Given the description of an element on the screen output the (x, y) to click on. 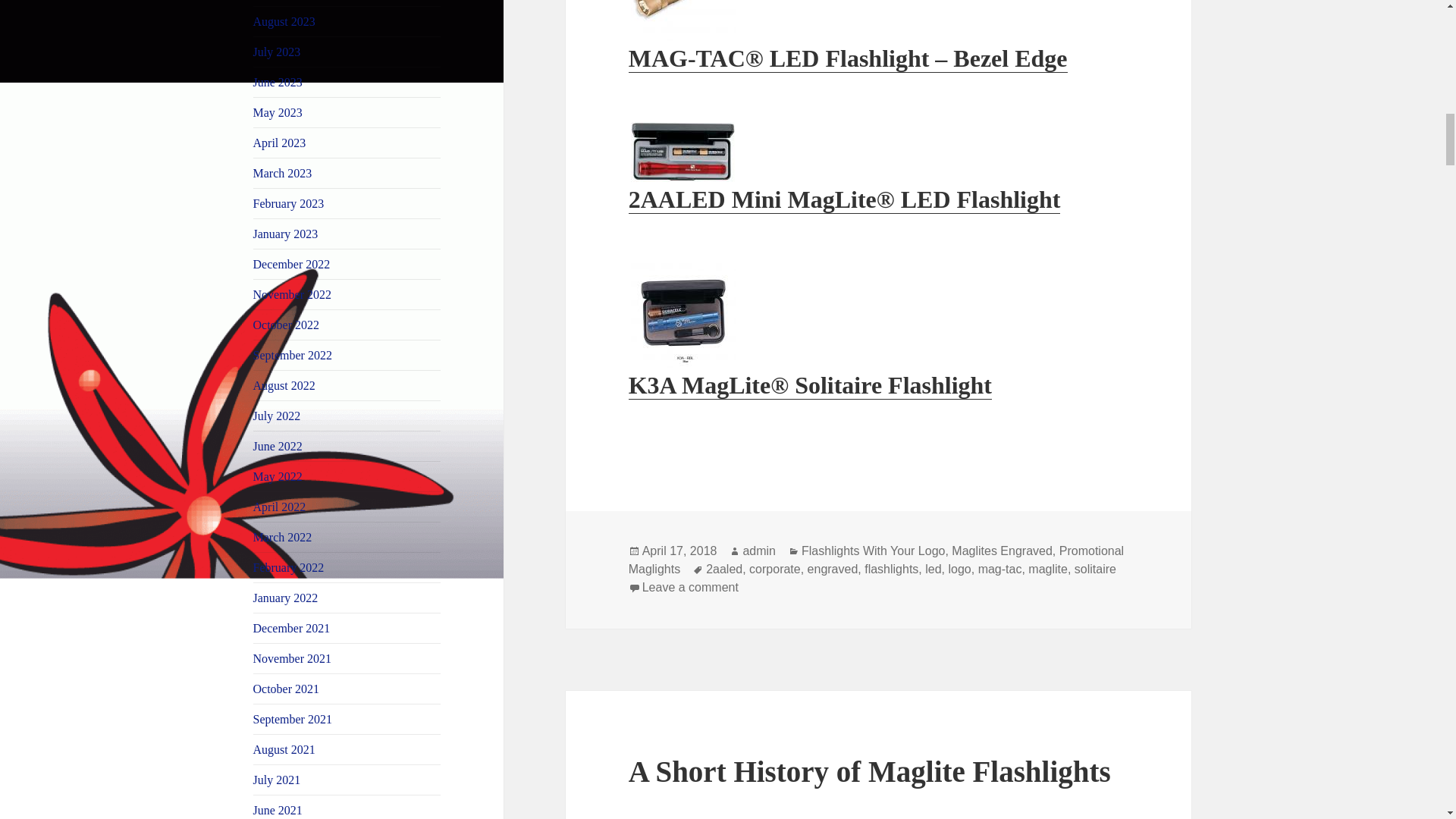
December 2022 (291, 264)
March 2023 (283, 173)
June 2023 (277, 82)
February 2023 (288, 203)
November 2022 (292, 294)
January 2023 (285, 233)
May 2023 (277, 112)
October 2022 (286, 324)
July 2023 (277, 51)
April 2023 (279, 142)
